Given the description of an element on the screen output the (x, y) to click on. 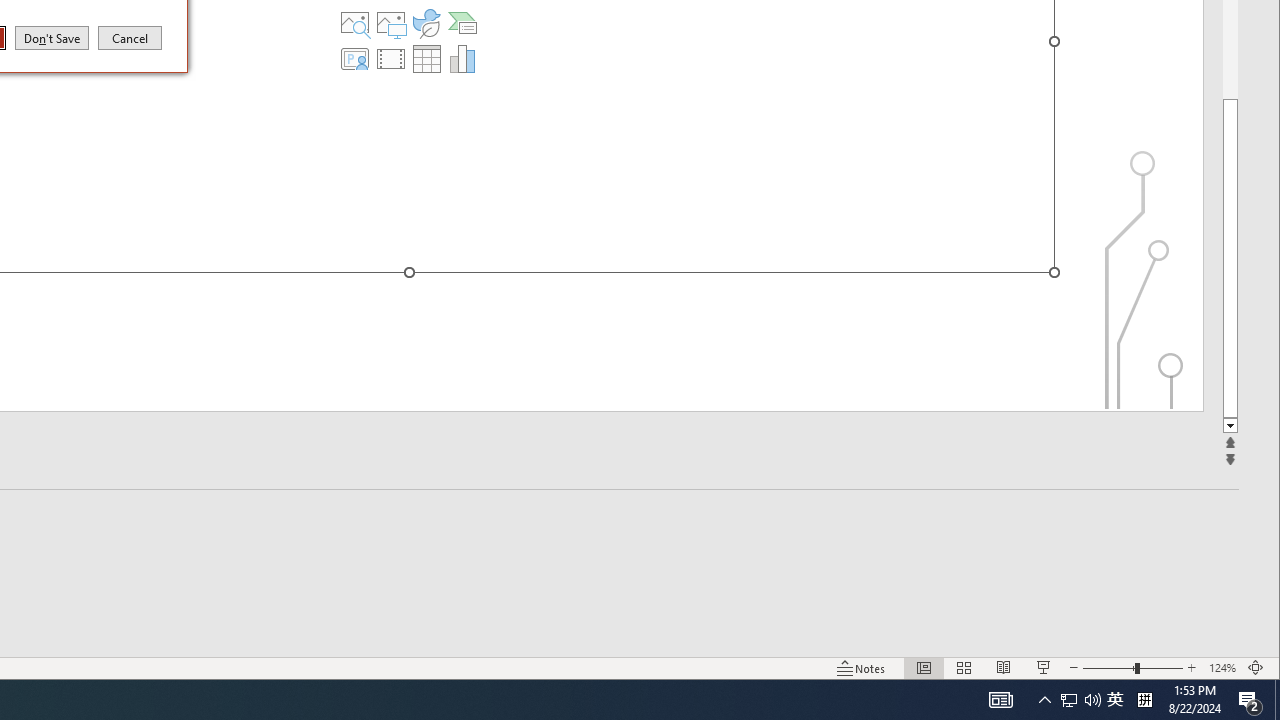
Pictures (391, 22)
Insert an Icon (426, 22)
User Promoted Notification Area (1080, 699)
Insert Chart (462, 58)
Zoom 124% (1115, 699)
Cancel (1222, 668)
Line down (130, 37)
Tray Input Indicator - Chinese (Simplified, China) (1230, 426)
